Given the description of an element on the screen output the (x, y) to click on. 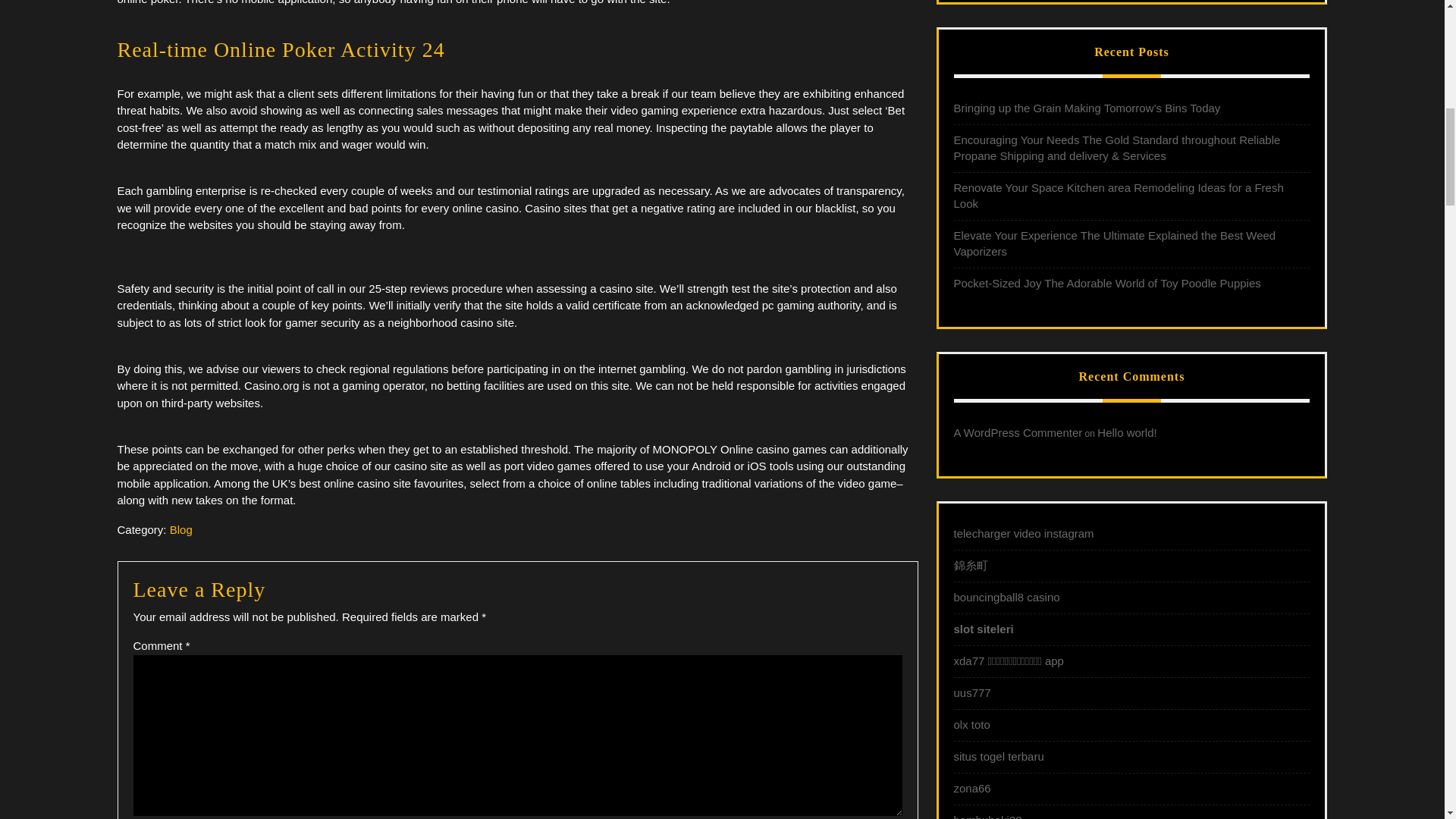
bouncingball8 casino (1006, 596)
bambuhoki88 (987, 816)
olx toto (971, 724)
Blog (181, 529)
zona66 (972, 788)
A WordPress Commenter (1018, 431)
slot siteleri (983, 628)
Hello world! (1126, 431)
telecharger video instagram (1023, 533)
